Given the description of an element on the screen output the (x, y) to click on. 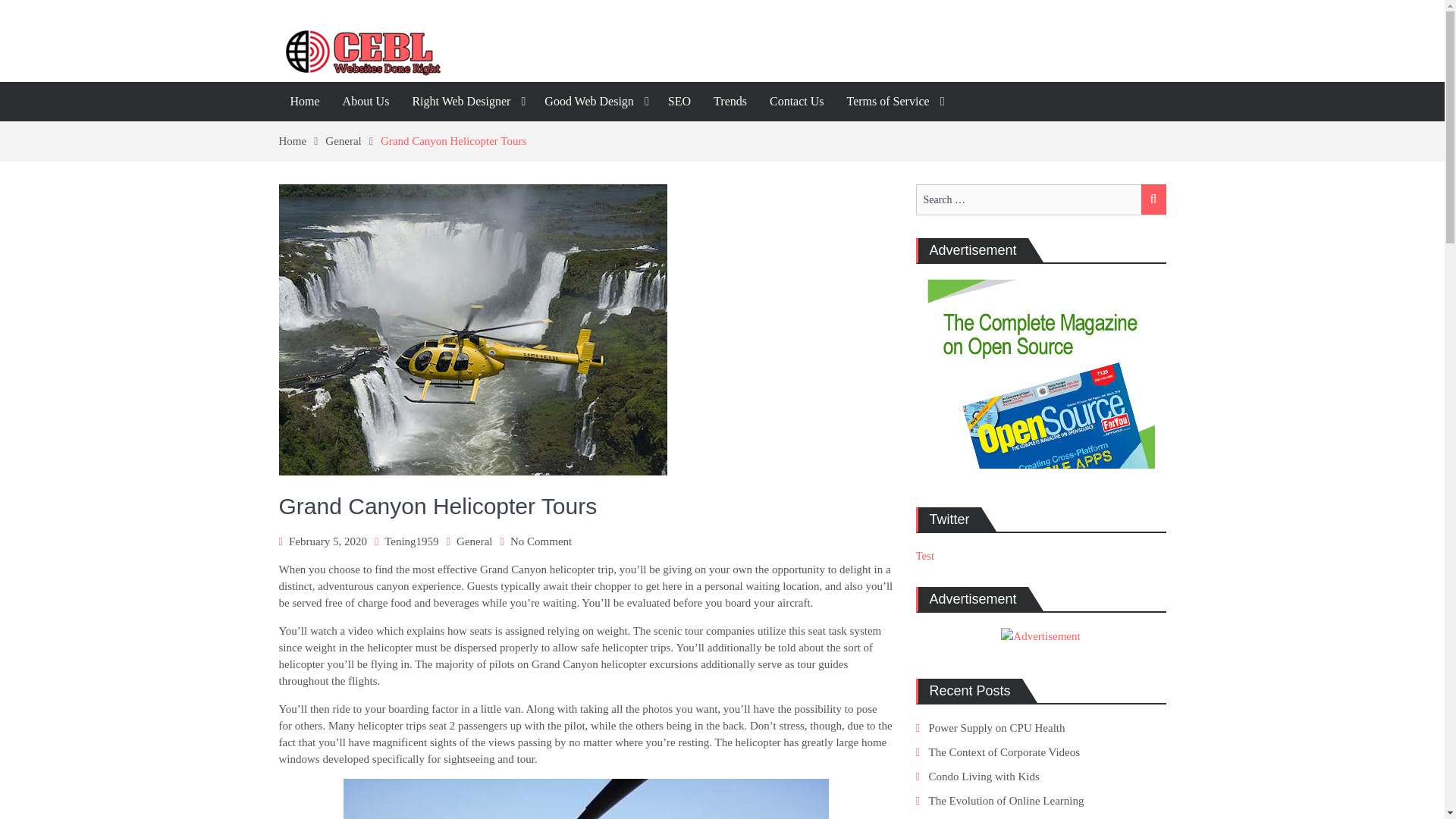
Home (541, 541)
Contact Us (302, 141)
General (796, 101)
Right Web Designer (352, 141)
Trends (466, 101)
About Us (729, 101)
SEO (366, 101)
Terms of Service (678, 101)
Home (893, 101)
